Given the description of an element on the screen output the (x, y) to click on. 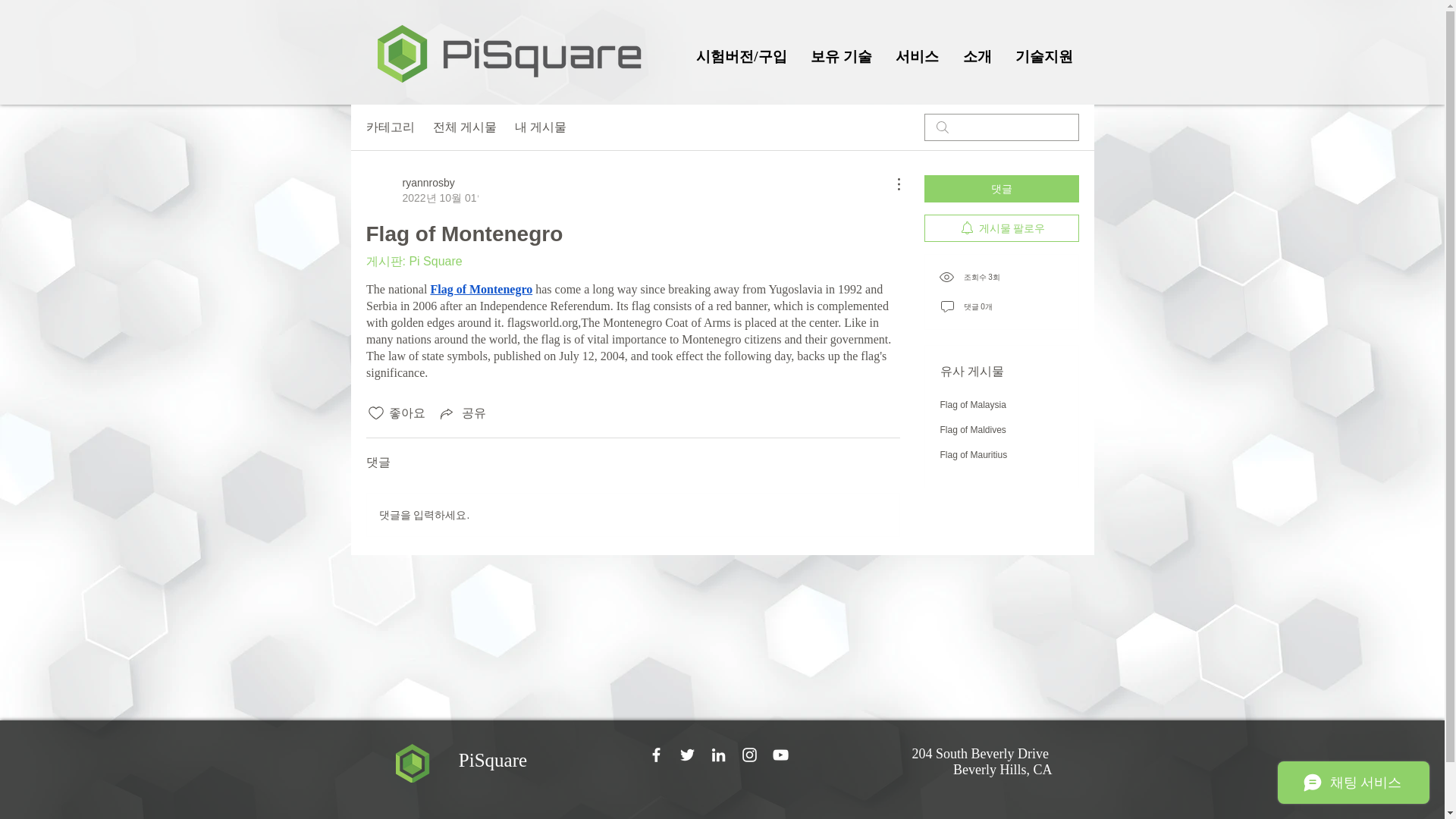
Flag of Maldives (973, 429)
Flag of Malaysia (973, 404)
Flag of Mauritius (973, 454)
Flag of Montenegro (480, 288)
